Given the description of an element on the screen output the (x, y) to click on. 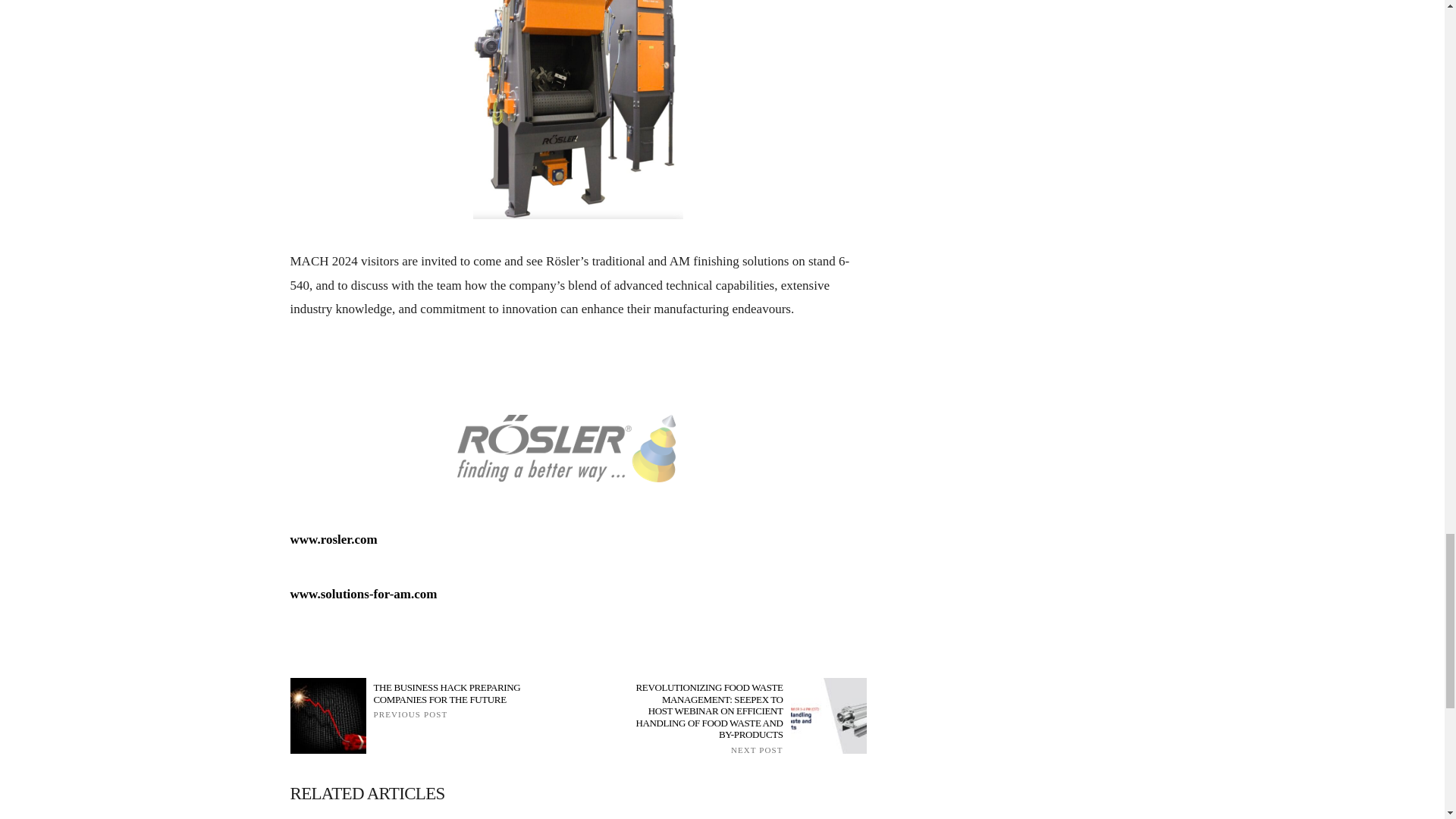
www.solutions-for-am.com (362, 594)
www.rosler.com (333, 539)
